Given the description of an element on the screen output the (x, y) to click on. 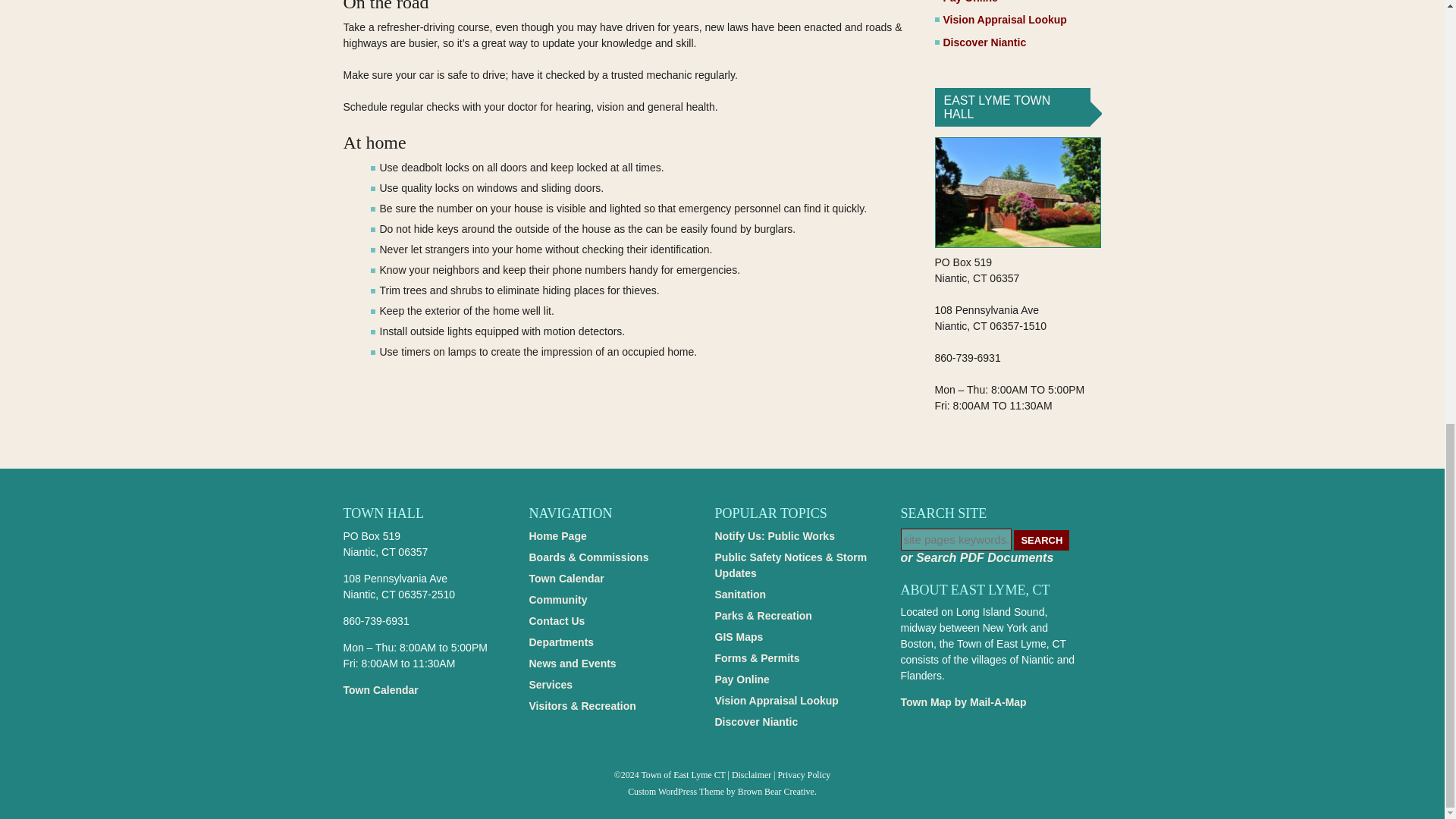
SEARCH (1040, 539)
SEARCH (1040, 539)
